Given the description of an element on the screen output the (x, y) to click on. 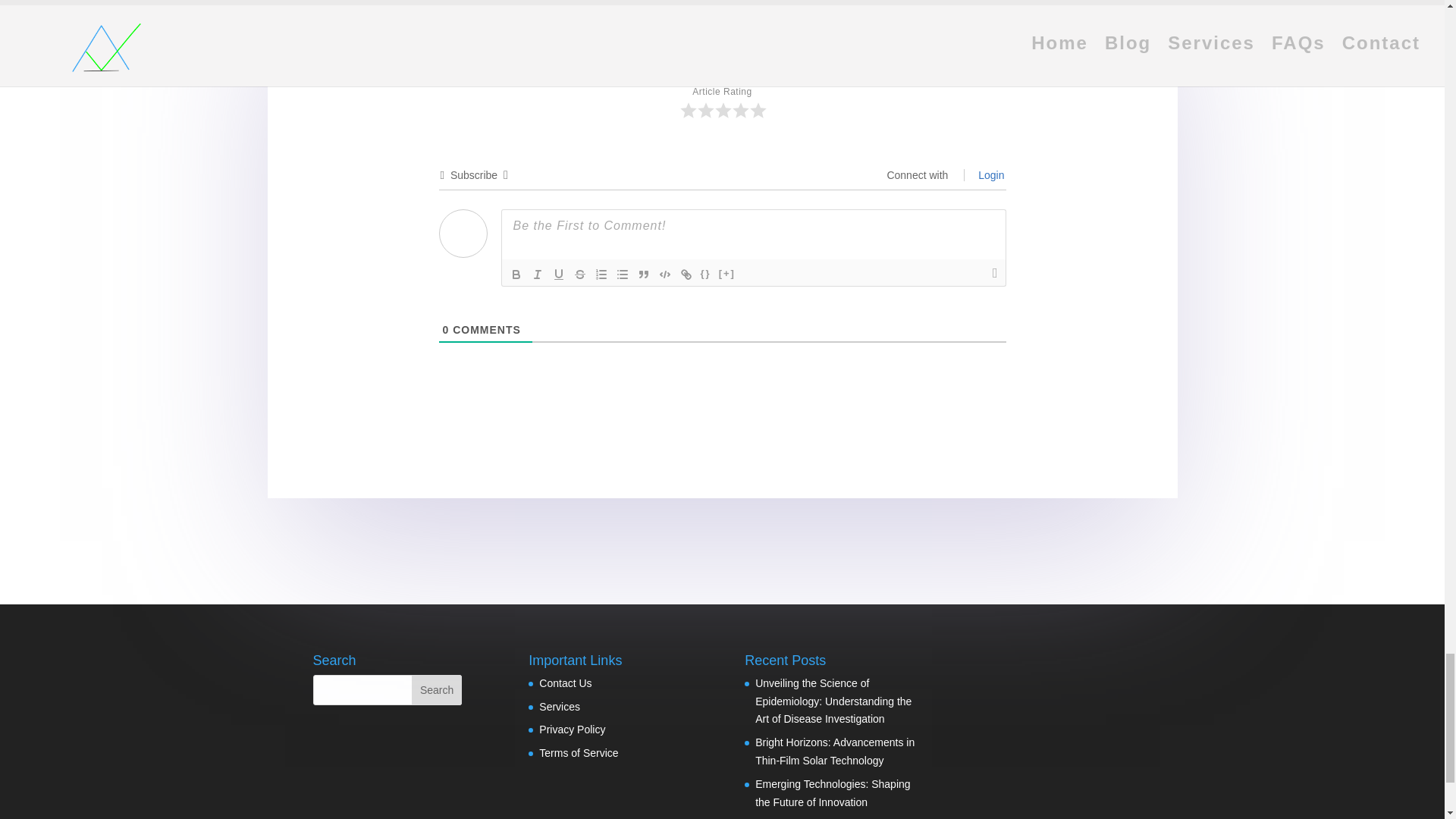
Italic (536, 274)
Unordered List (621, 274)
bullet (621, 274)
Spoiler (726, 274)
Link (685, 274)
Code Block (664, 274)
Ordered List (600, 274)
Bold (515, 274)
Source Code (704, 274)
Search (436, 689)
